Given the description of an element on the screen output the (x, y) to click on. 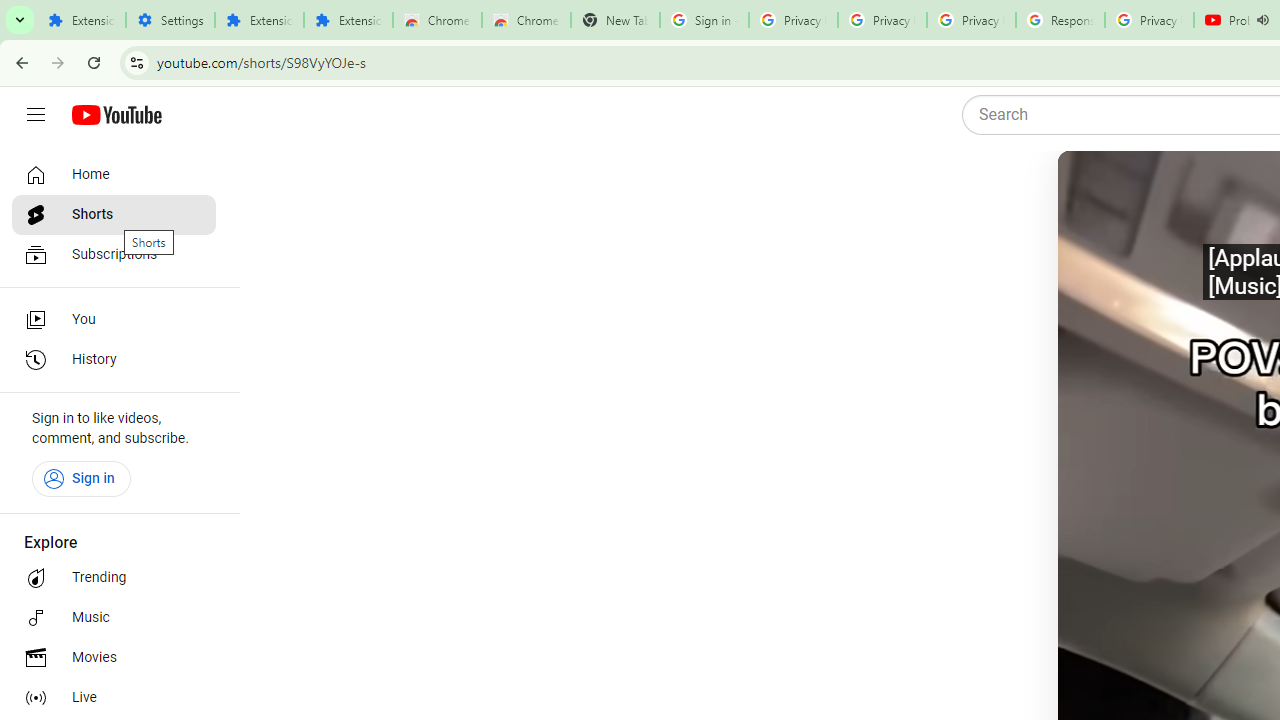
Trending (113, 578)
New Tab (615, 20)
Extensions (259, 20)
Mute (1154, 191)
